Given the description of an element on the screen output the (x, y) to click on. 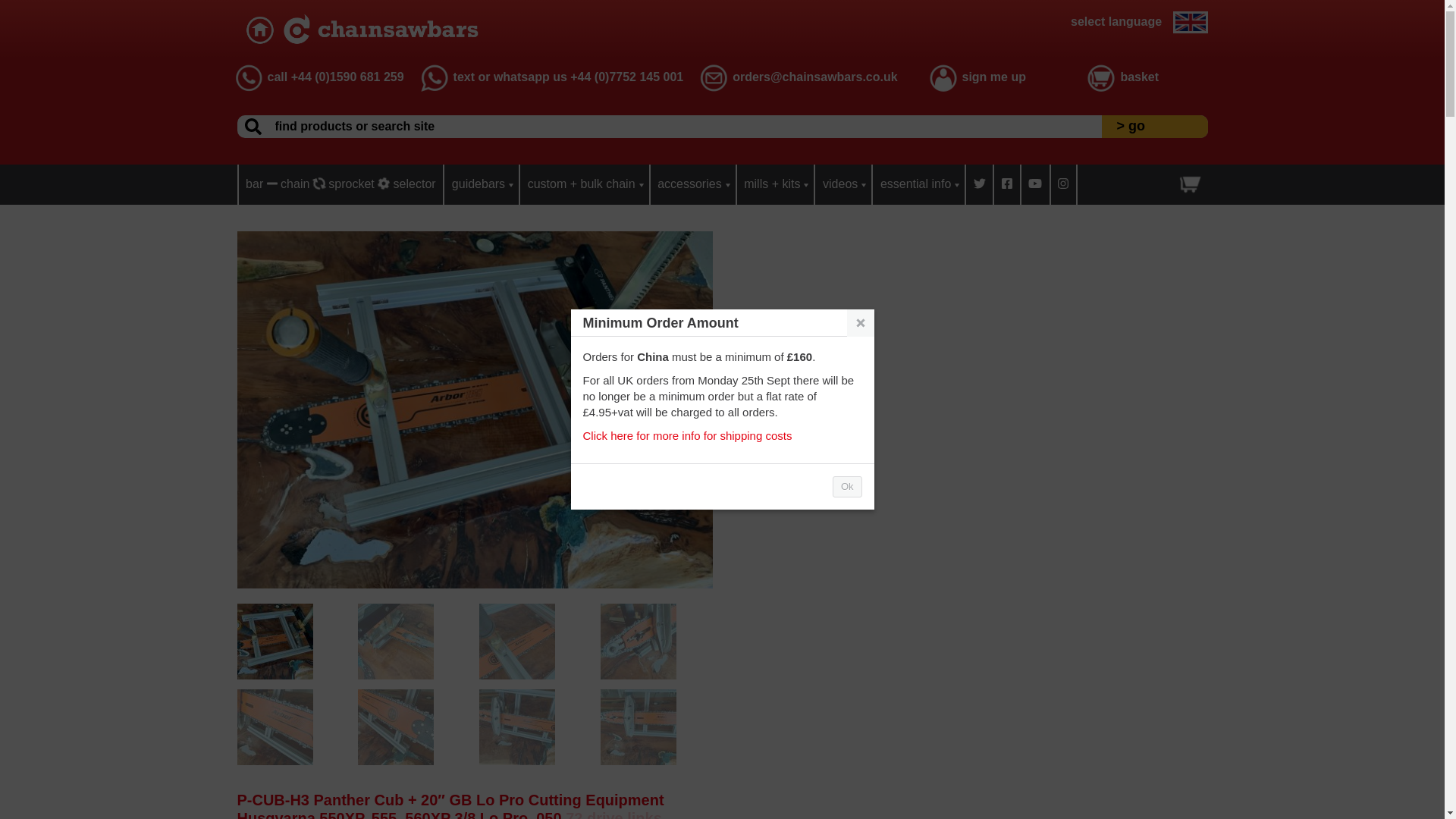
sign me up (992, 76)
basket (1138, 76)
